Given the description of an element on the screen output the (x, y) to click on. 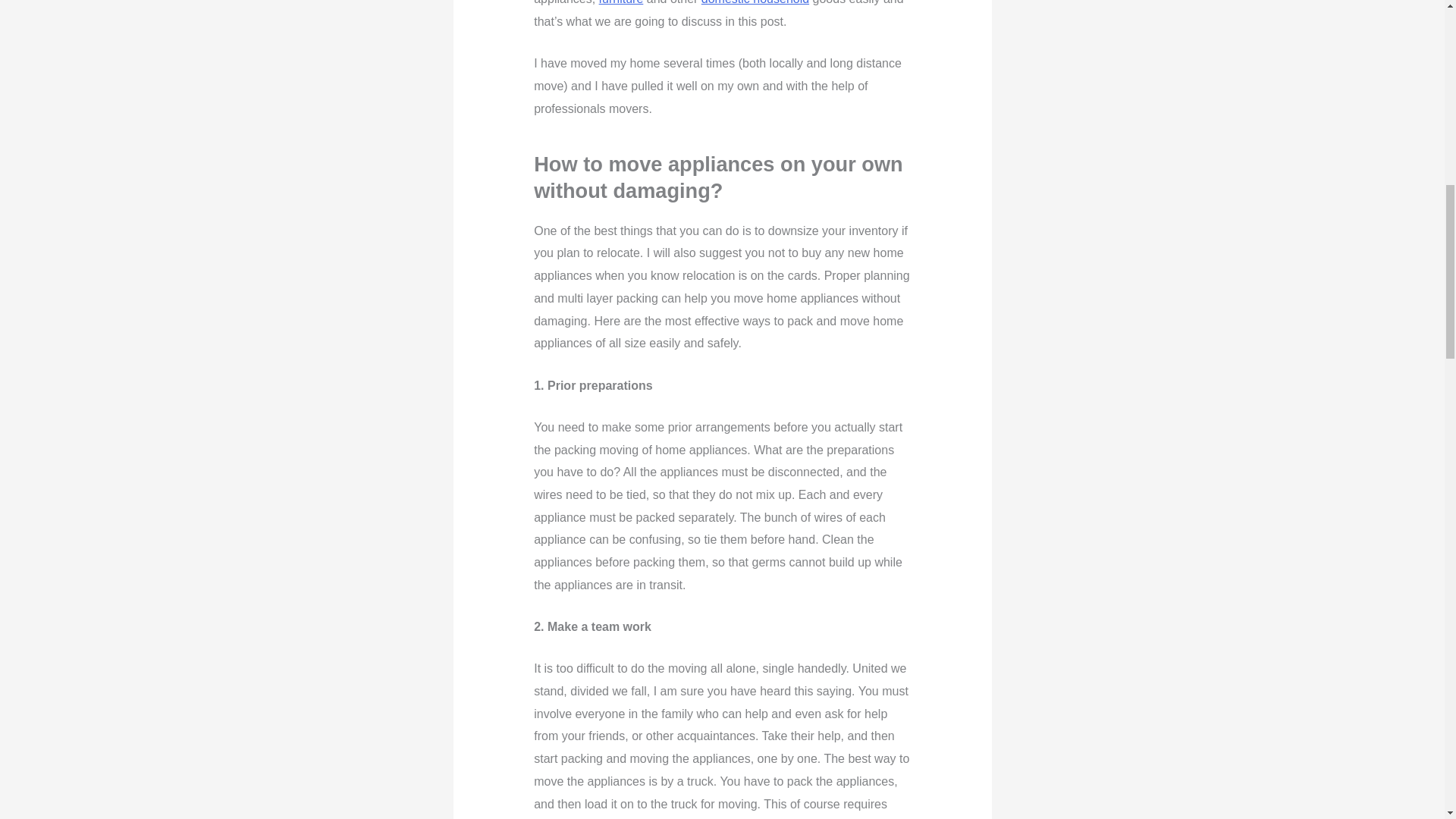
furniture (620, 2)
domestic household (755, 2)
